Given the description of an element on the screen output the (x, y) to click on. 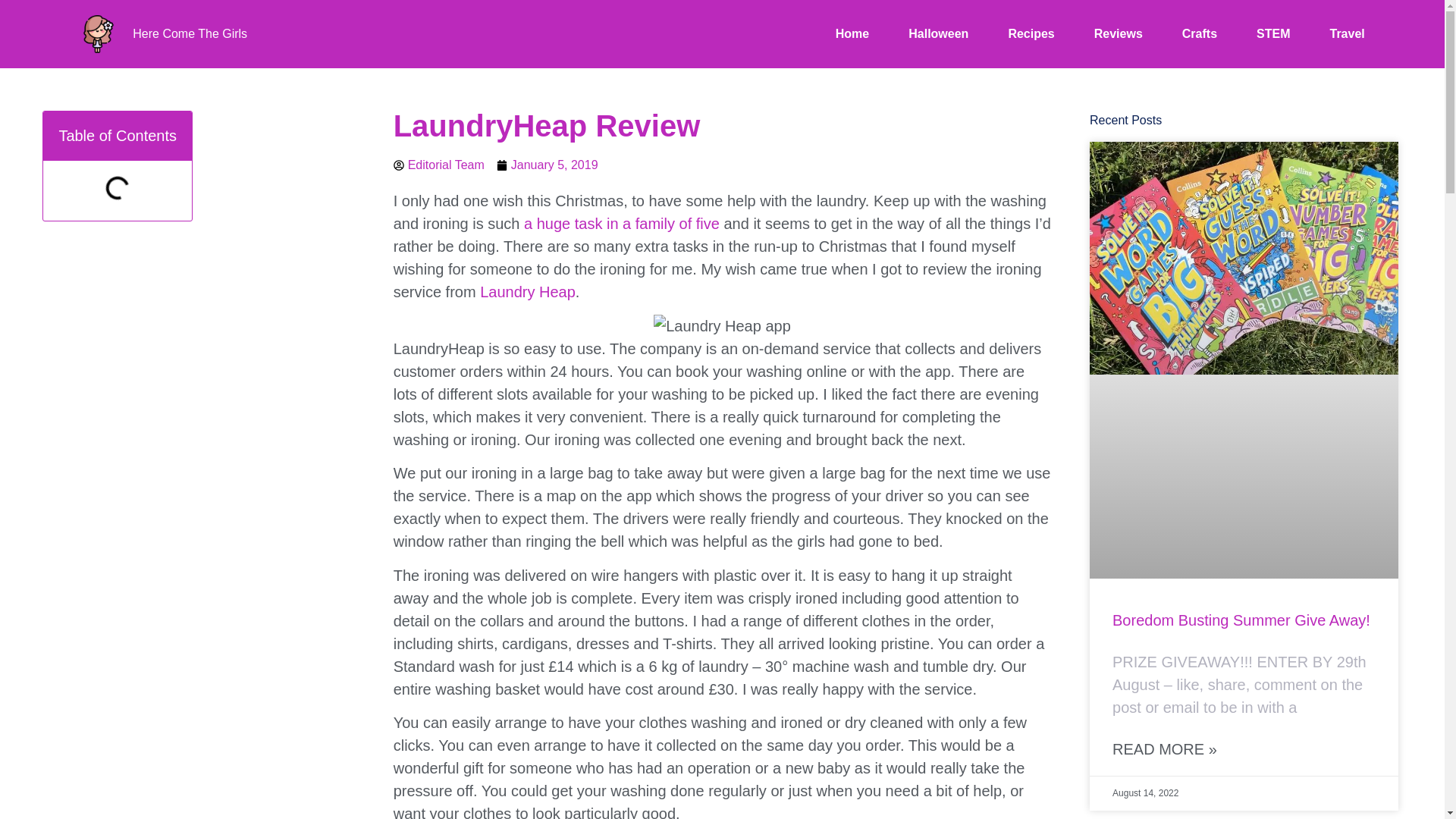
January 5, 2019 (547, 165)
Travel (1346, 34)
Laundry Heap (527, 291)
a huge task in a family of five (621, 223)
Recipes (1030, 34)
Boredom Busting Summer Give Away! (1241, 619)
Crafts (1199, 34)
Here Come The Girls (189, 33)
Home (852, 34)
Halloween (938, 34)
Editorial Team (438, 165)
Reviews (1118, 34)
STEM (1273, 34)
